Given the description of an element on the screen output the (x, y) to click on. 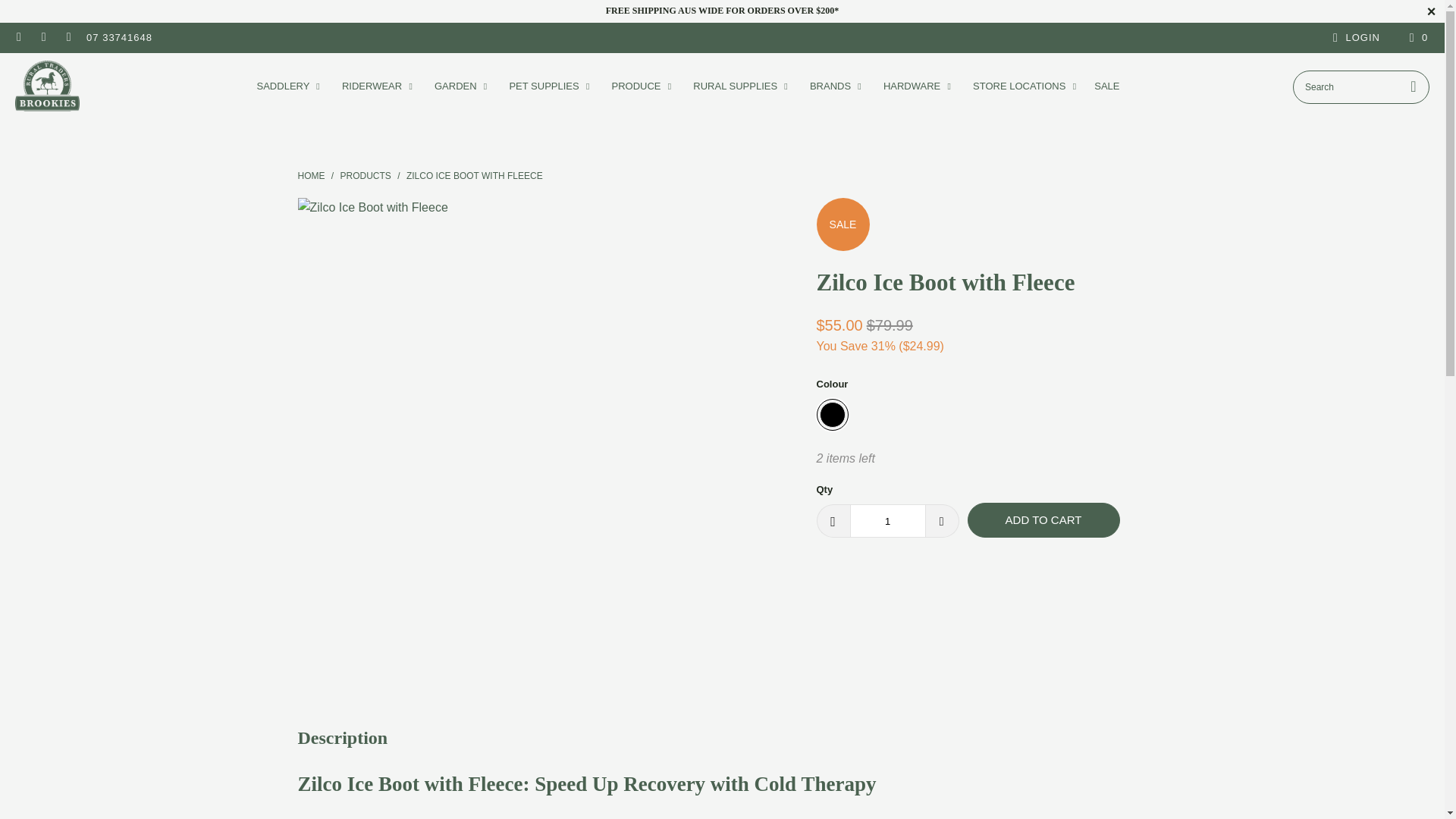
Products (365, 175)
Brookies Rural Traders (47, 86)
My Account  (1353, 37)
Brookies Rural Traders on YouTube (68, 37)
Brookies Rural Traders on Instagram (42, 37)
1 (886, 520)
Brookies Rural Traders (310, 175)
Brookies Rural Traders on Facebook (17, 37)
